Given the description of an element on the screen output the (x, y) to click on. 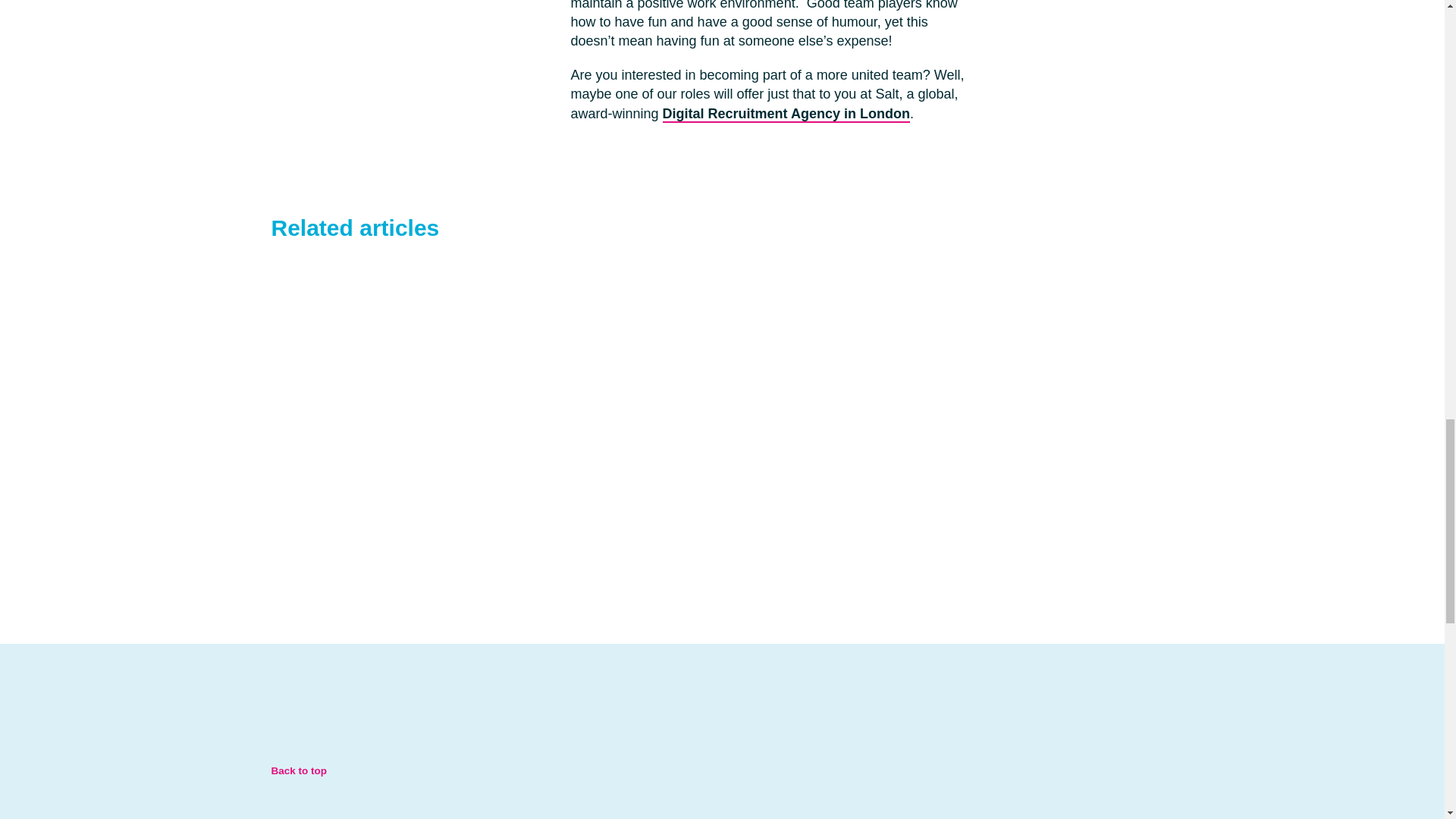
Digital Recruitment Agency in London (786, 114)
